Given the description of an element on the screen output the (x, y) to click on. 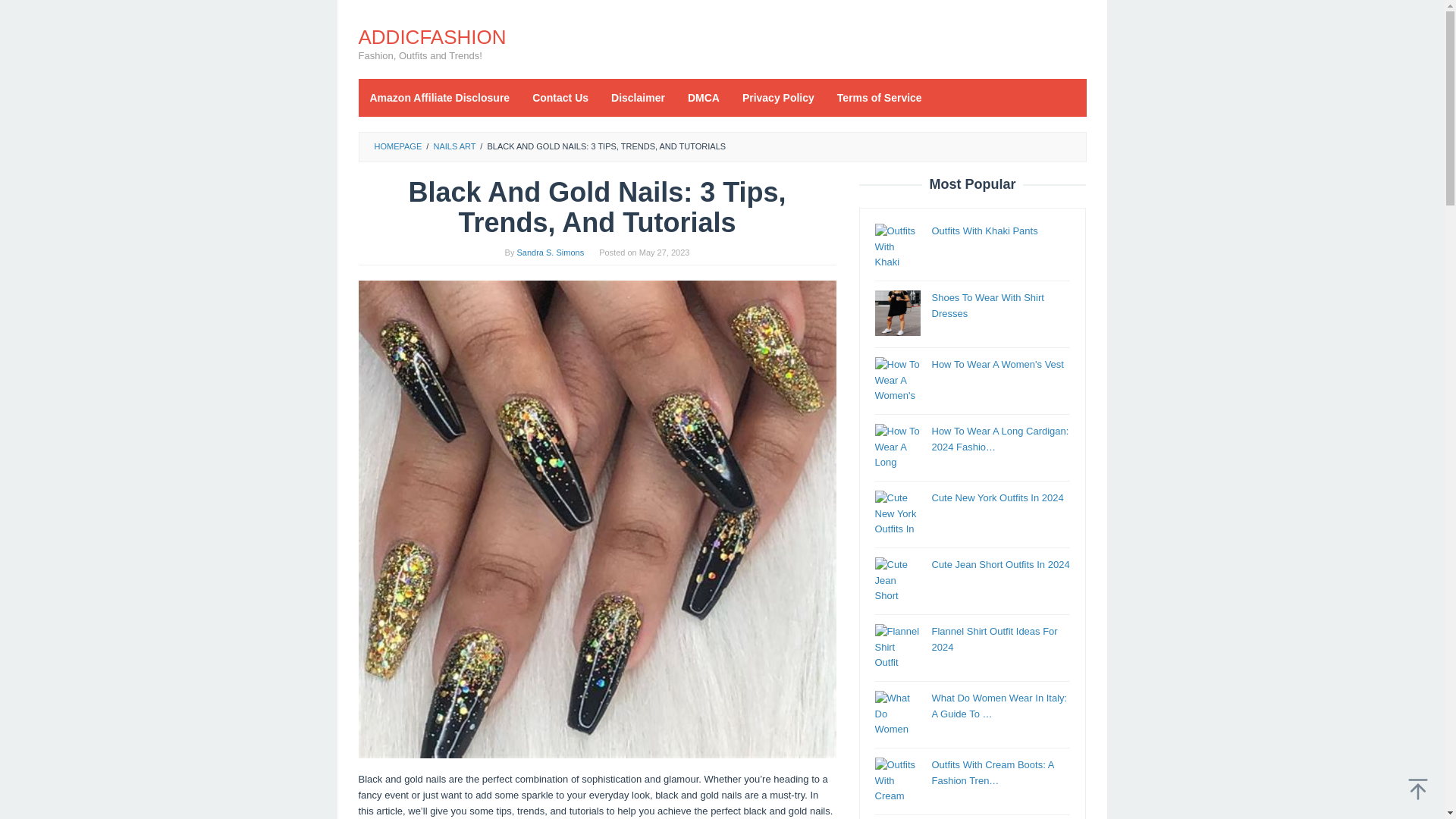
ADDICFASHION (431, 36)
Cute New York Outfits In 2024 (996, 497)
Amazon Affiliate Disclosure (439, 97)
Cute Jean Short Outfits In 2024 (999, 564)
Flannel Shirt Outfit Ideas For 2024 (994, 638)
How To Wear A Women's Vest (996, 364)
DMCA (703, 97)
Permalink to: Sandra S. Simons (550, 252)
Sandra S. Simons (550, 252)
Terms of Service (879, 97)
ADDICFASHION (431, 36)
HOMEPAGE (398, 145)
Disclaimer (638, 97)
Shoes To Wear With Shirt Dresses (987, 305)
Outfits With Khaki Pants (983, 230)
